Given the description of an element on the screen output the (x, y) to click on. 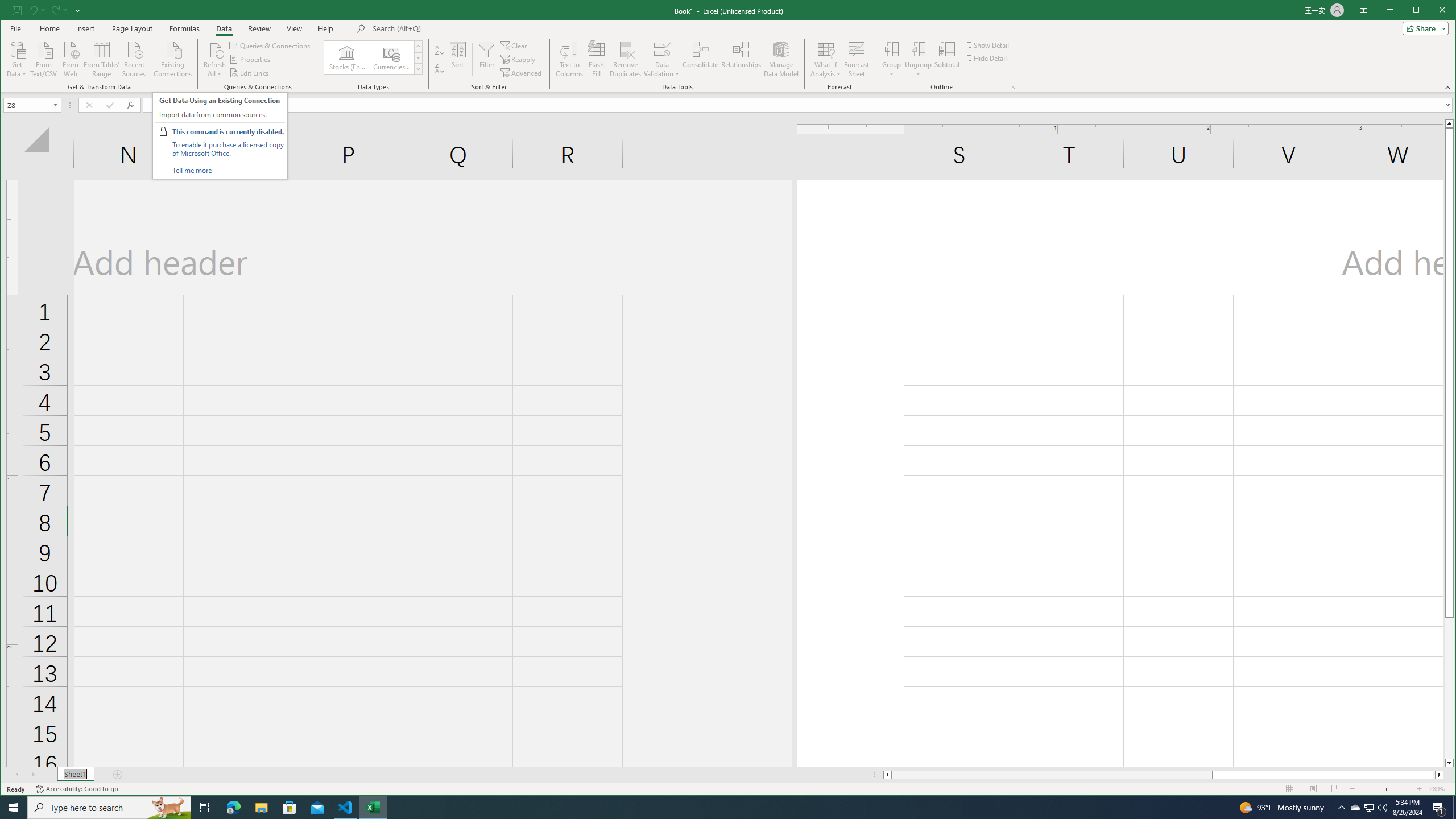
Show desktop (1454, 807)
